Given the description of an element on the screen output the (x, y) to click on. 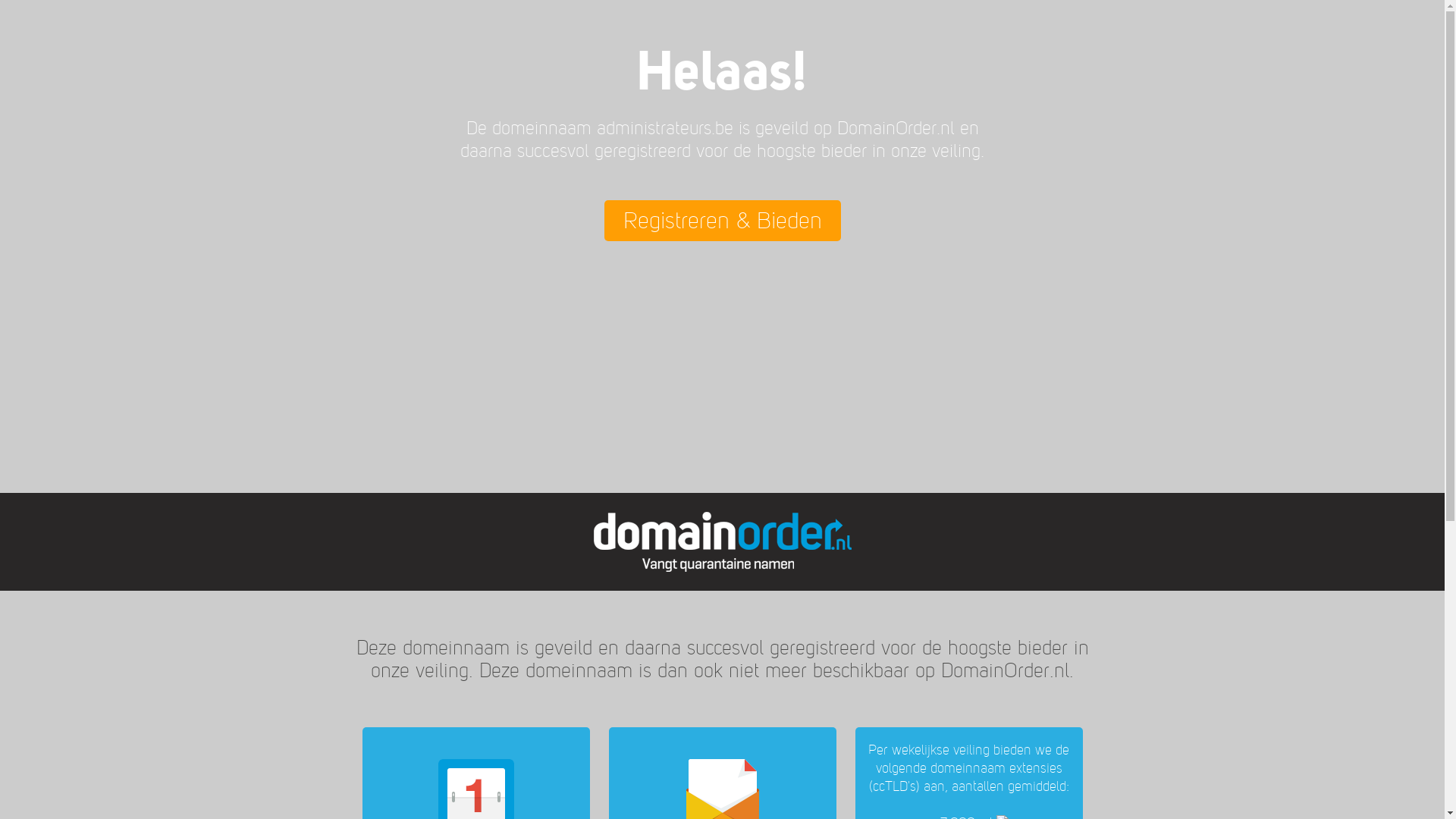
Registreren & Bieden Element type: text (721, 220)
